Given the description of an element on the screen output the (x, y) to click on. 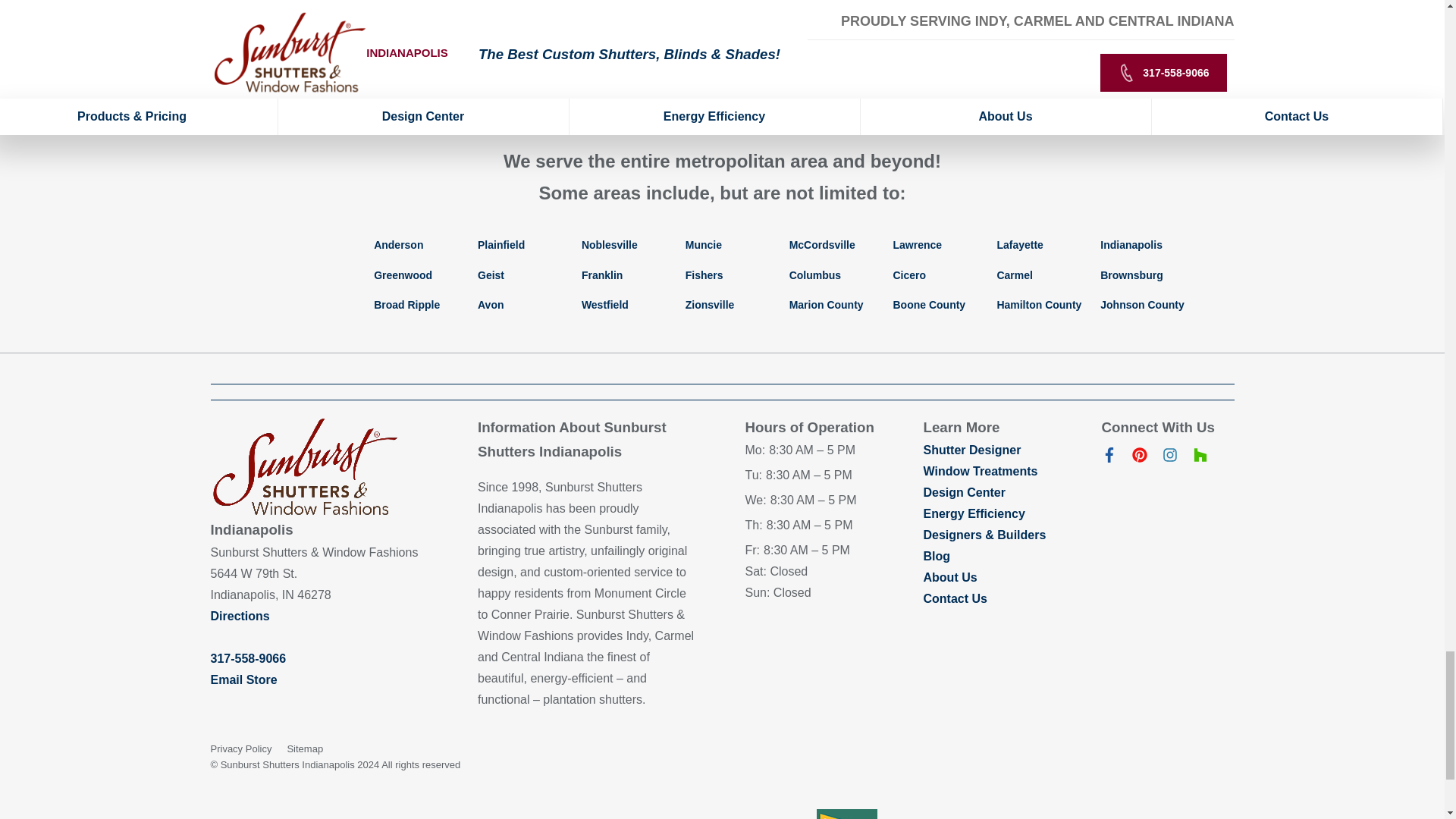
Follow us on Pinterest (1139, 458)
Like us on Facebook (1108, 458)
Best Of Houzz 2024 (845, 814)
Follow us on Instagram (1168, 458)
Save us on Houzz (1199, 458)
